Given the description of an element on the screen output the (x, y) to click on. 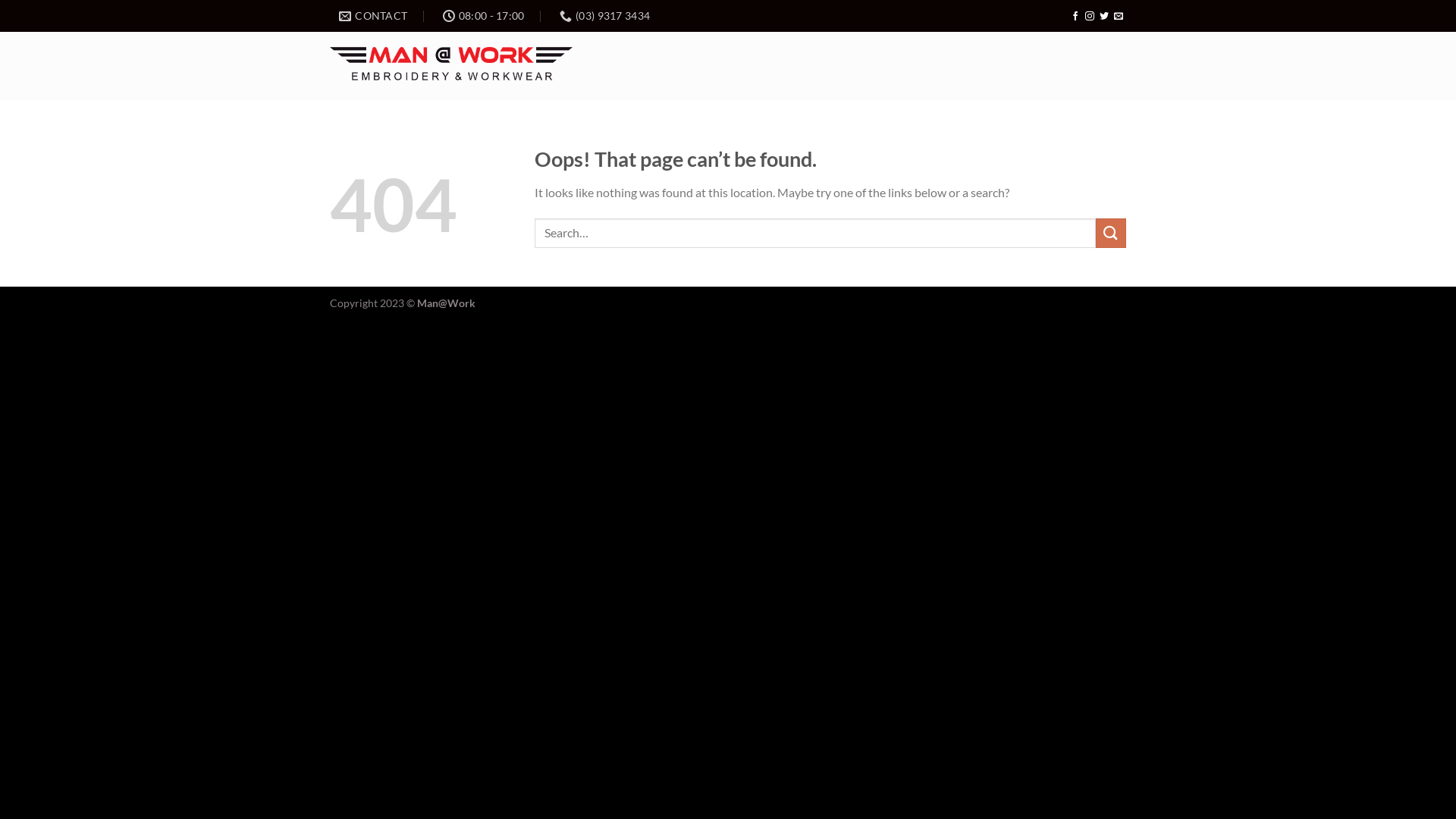
08:00 - 17:00 Element type: text (483, 15)
(03) 9317 3434 Element type: text (604, 15)
Send us an email Element type: hover (1118, 16)
CONTACT Element type: text (372, 15)
Manatwork Element type: hover (450, 66)
Follow on Twitter Element type: hover (1103, 16)
Follow on Facebook Element type: hover (1074, 16)
Follow on Instagram Element type: hover (1089, 16)
